Given the description of an element on the screen output the (x, y) to click on. 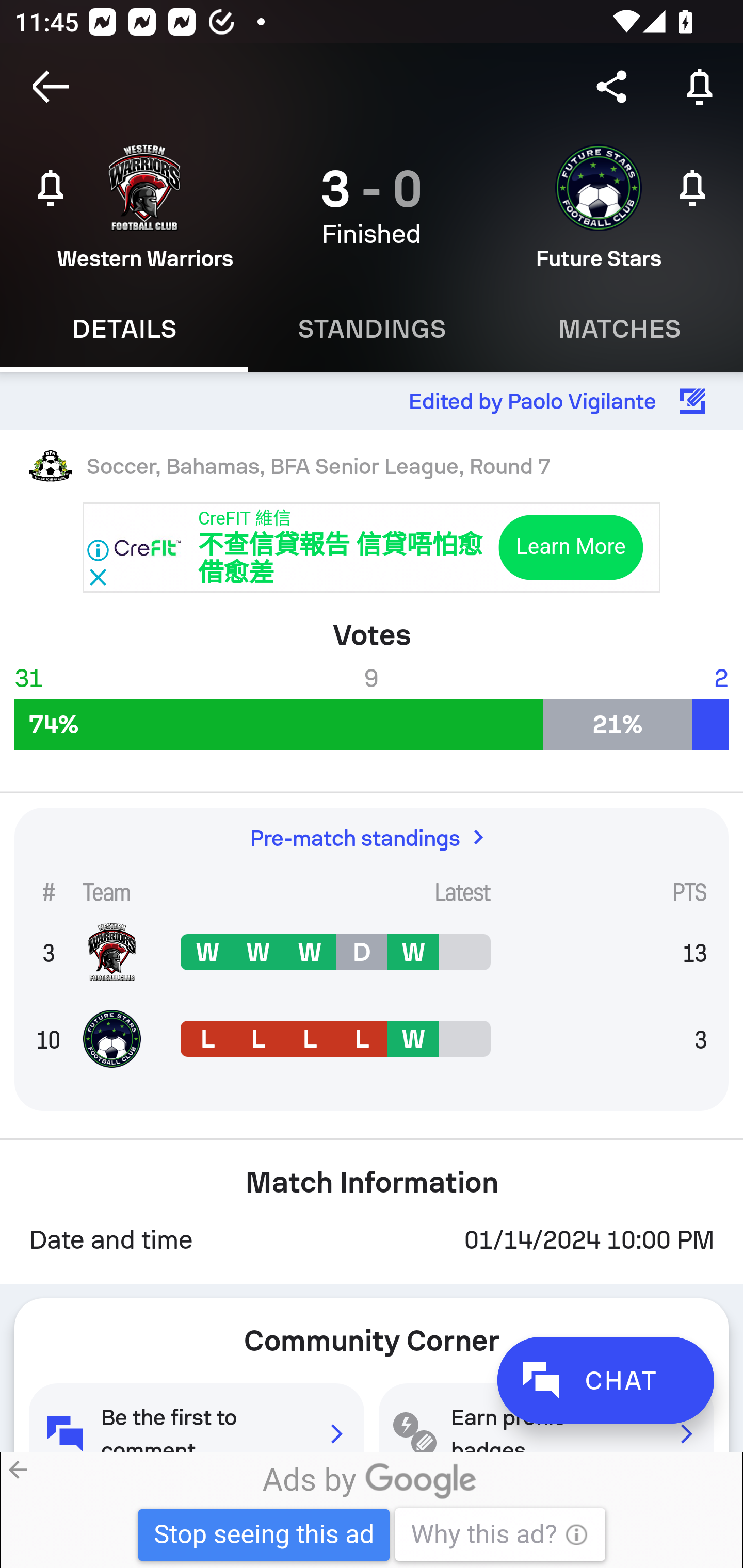
Navigate up (50, 86)
Standings STANDINGS (371, 329)
Matches MATCHES (619, 329)
Edited by Paolo Vigilante (371, 401)
Soccer, Bahamas, BFA Senior League, Round 7 (371, 465)
CHAT (605, 1380)
Be the first to comment (196, 1416)
